Given the description of an element on the screen output the (x, y) to click on. 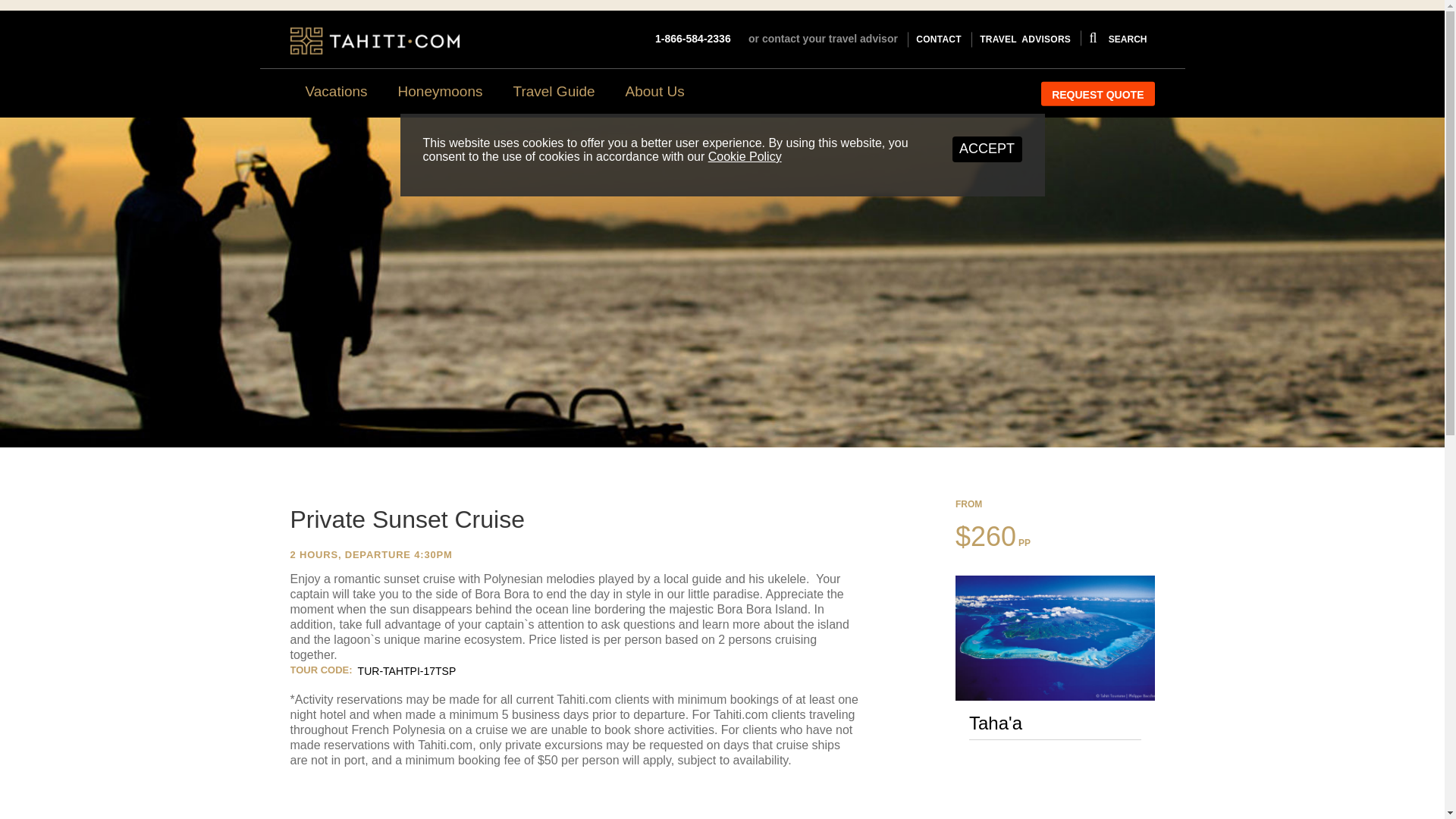
CONTACT (937, 39)
Tahiti.com (373, 40)
Travel Guide (553, 91)
TRAVEL  ADVISORS (1024, 39)
Honeymoons (439, 91)
Vacations (335, 91)
